Given the description of an element on the screen output the (x, y) to click on. 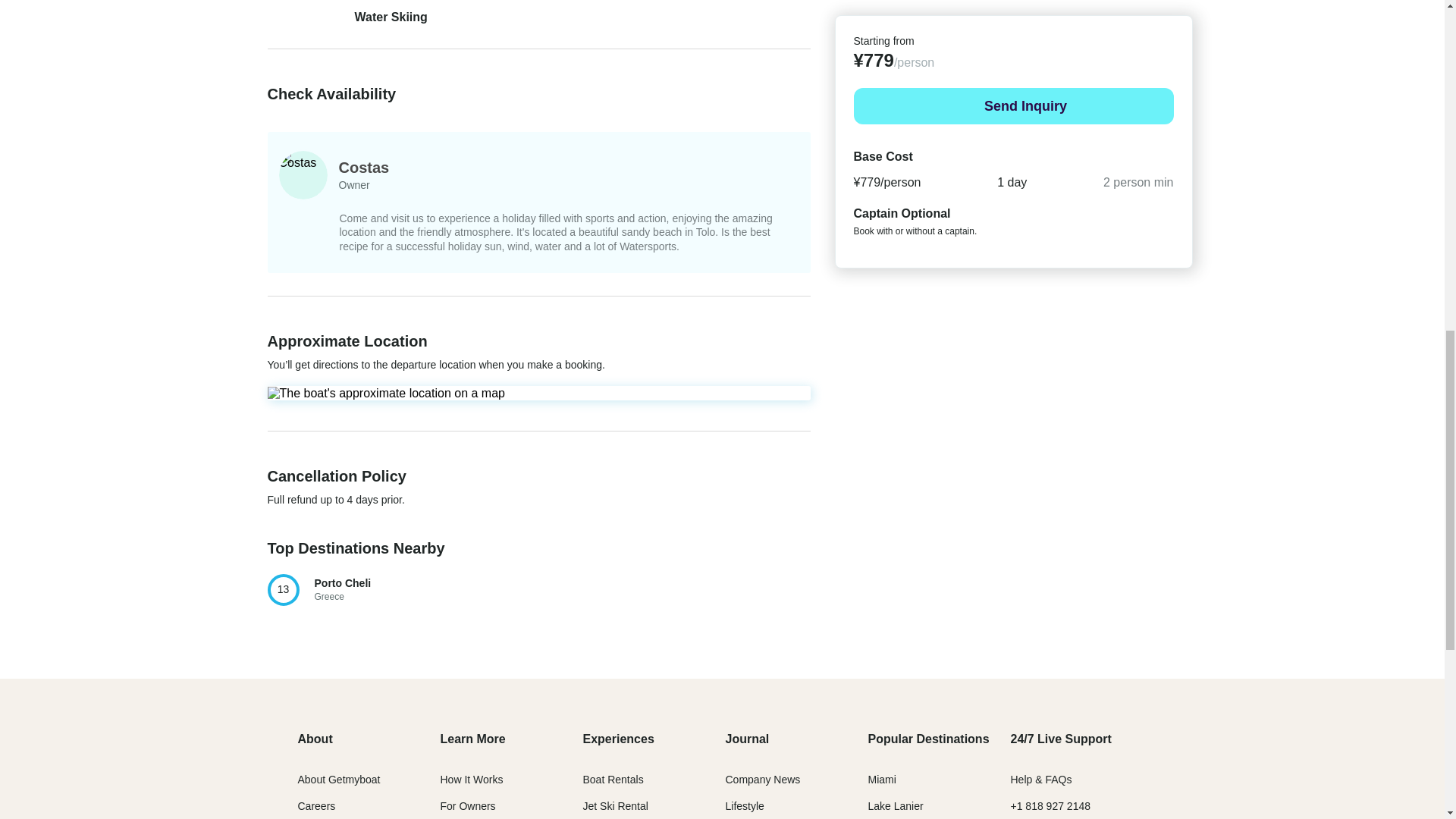
Boat Rentals (612, 779)
Careers (315, 806)
How It Works (470, 779)
For Owners (467, 806)
Jet Ski Rental (356, 590)
About Getmyboat (614, 806)
Experiences (338, 779)
